Given the description of an element on the screen output the (x, y) to click on. 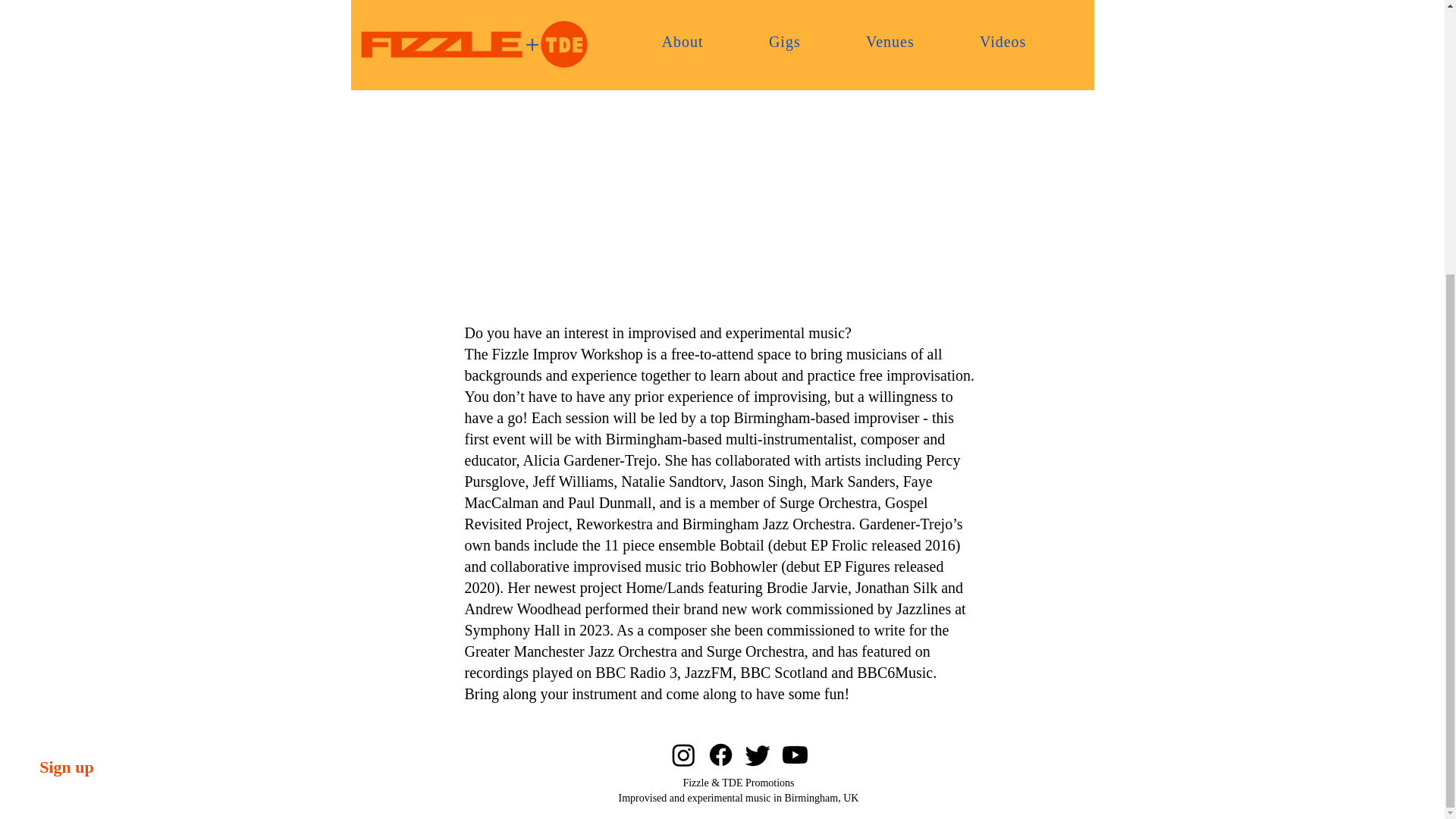
Sign up (66, 363)
